Given the description of an element on the screen output the (x, y) to click on. 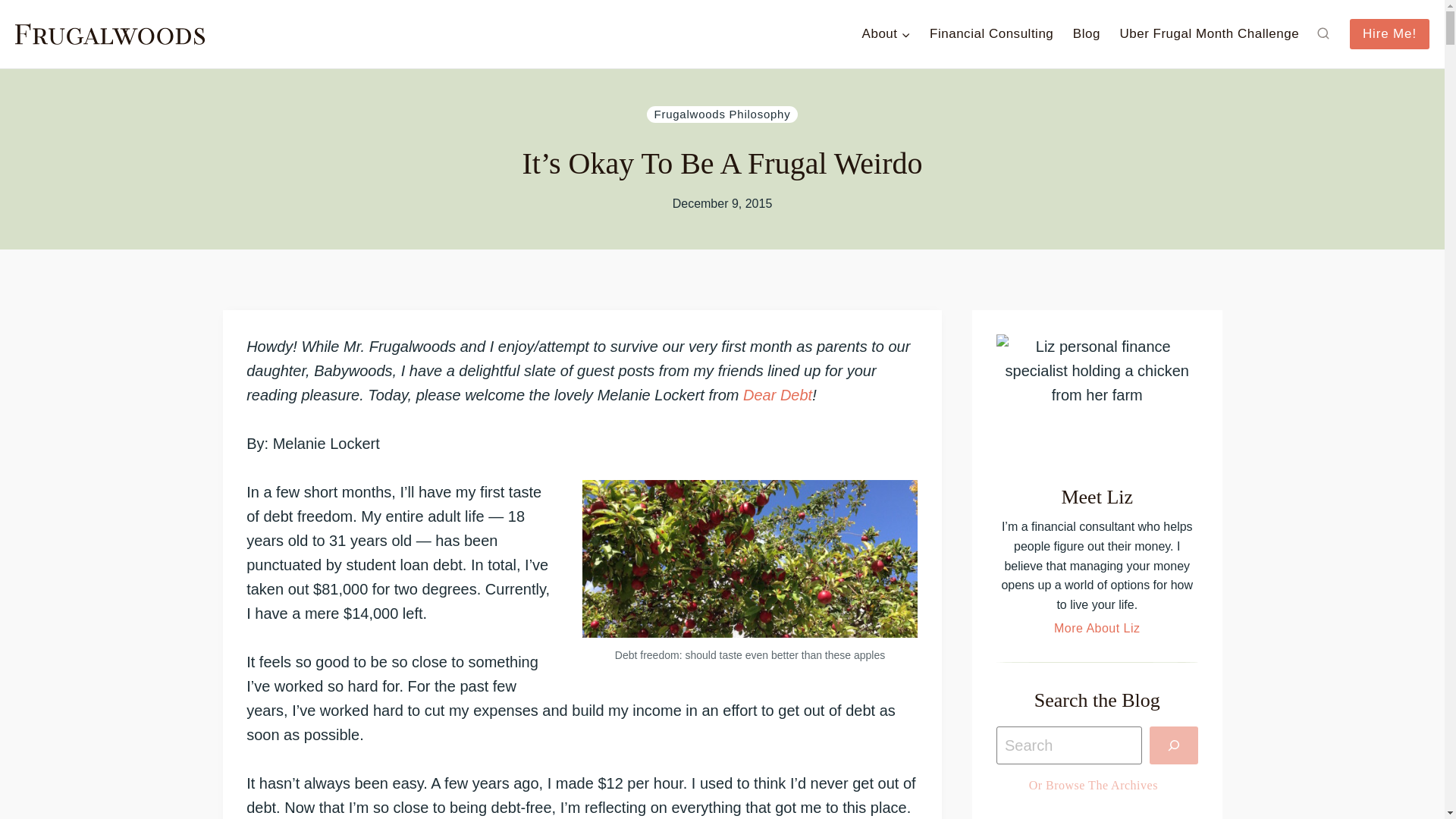
Financial Consulting (991, 33)
Blog (1085, 33)
Uber Frugal Month Challenge (1208, 33)
Hire Me! (1389, 33)
Frugalwoods Philosophy (721, 114)
Dear Debt (777, 394)
About (885, 33)
